Given the description of an element on the screen output the (x, y) to click on. 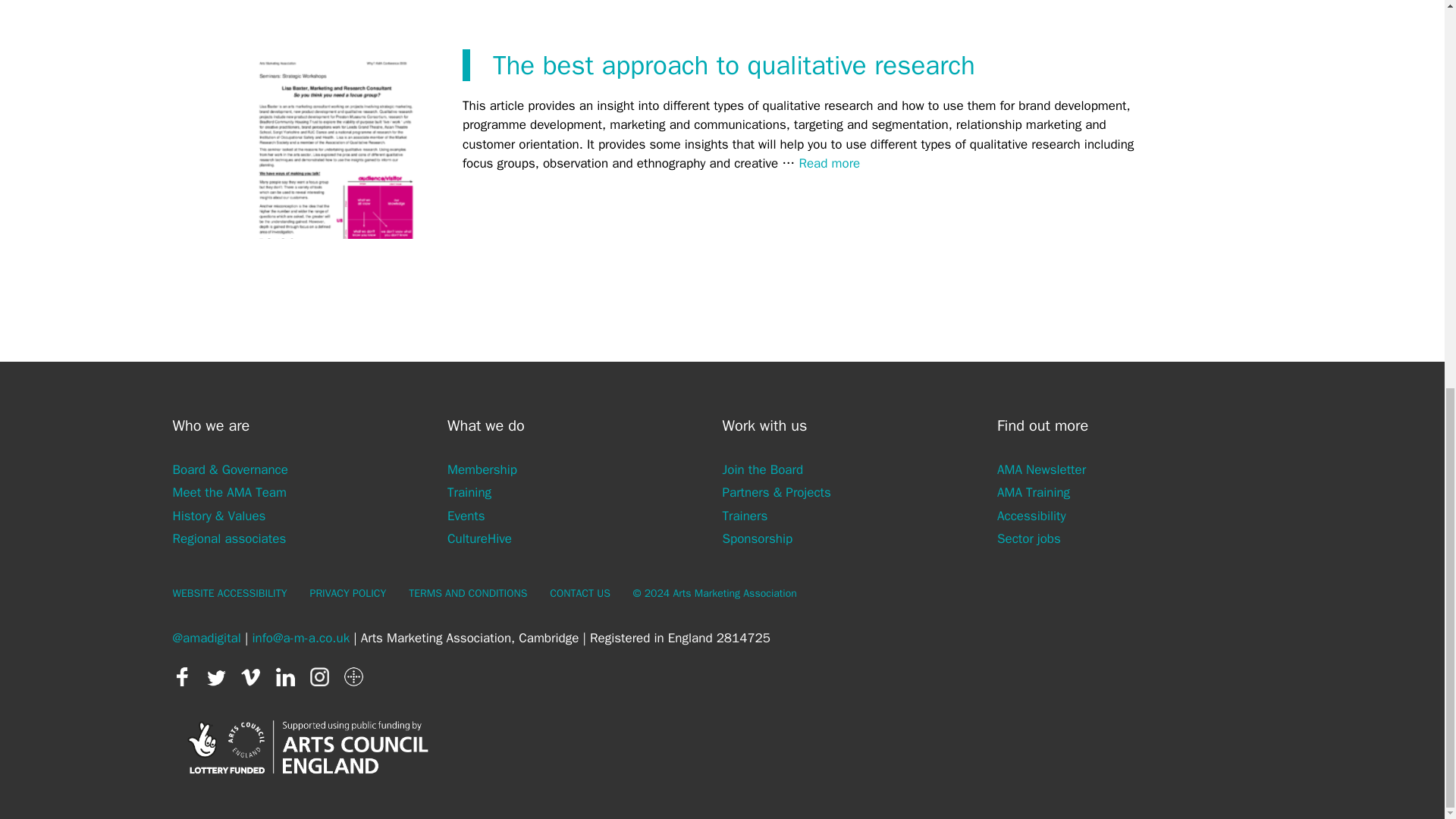
Regional associates (229, 538)
Trainers (744, 515)
The best approach to qualitative research (734, 64)
Sector jobs (1029, 538)
AMA Training (1033, 492)
Events (465, 515)
Sponsorship (757, 538)
TERMS AND CONDITIONS (468, 593)
AMA Newsletter (1041, 468)
The best approach to qualitative research (828, 163)
Meet the AMA Team (229, 492)
WEBSITE ACCESSIBILITY (229, 593)
Training (469, 492)
Accessibility (1031, 515)
CultureHive (479, 538)
